Given the description of an element on the screen output the (x, y) to click on. 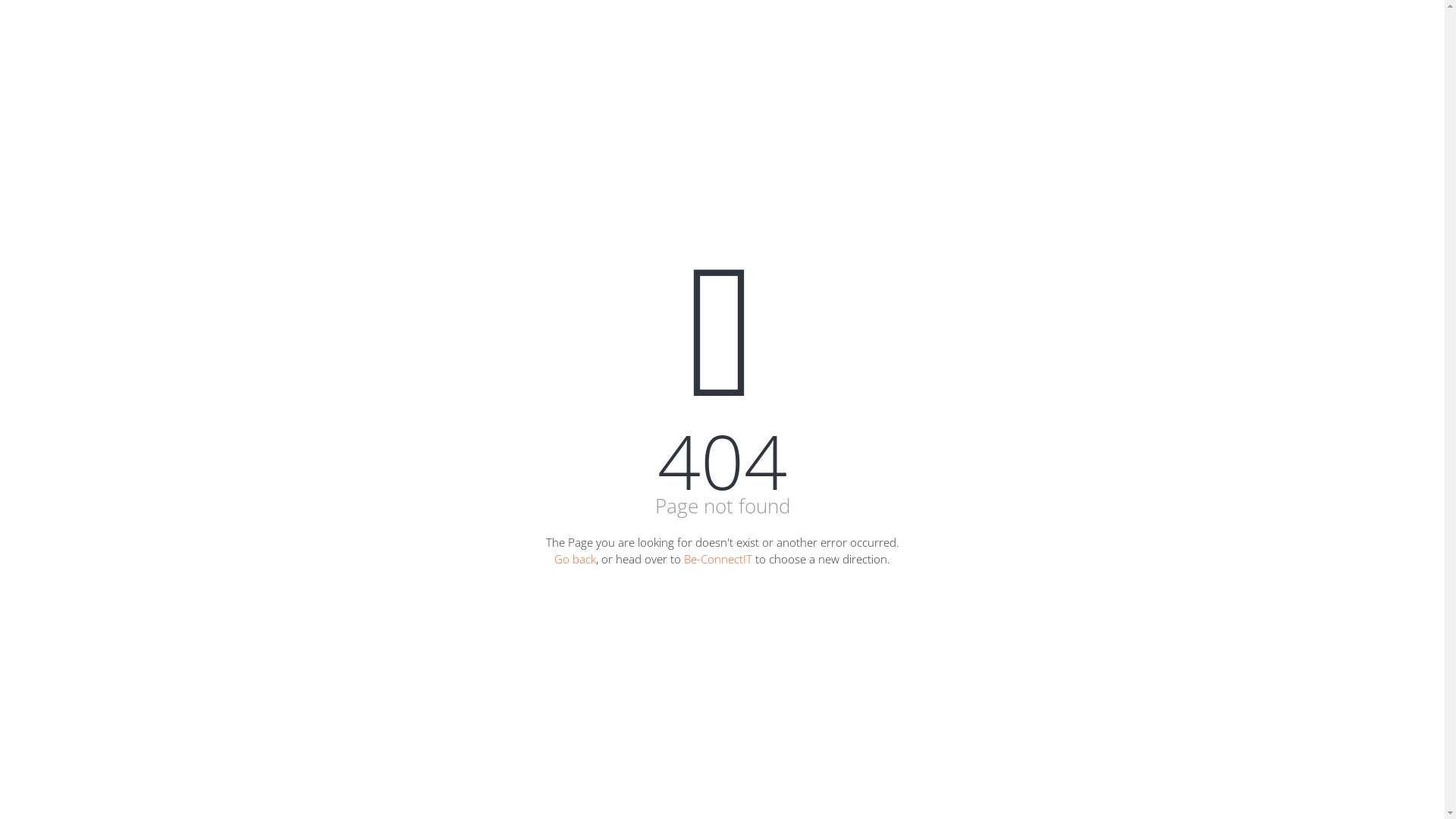
Be-ConnectIT Element type: text (718, 557)
Go back Element type: text (575, 557)
